Given the description of an element on the screen output the (x, y) to click on. 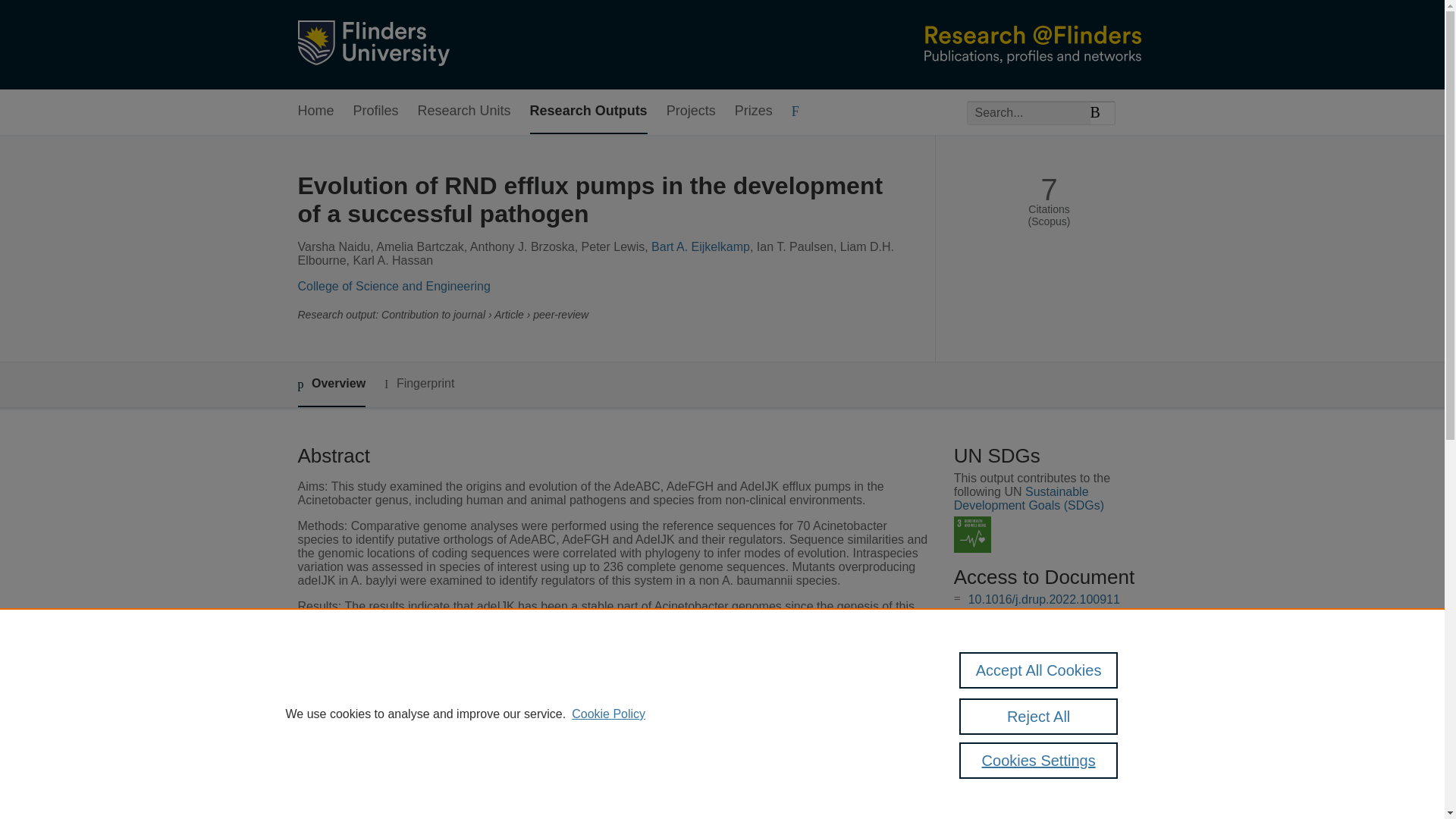
Overview (331, 384)
Profiles (375, 111)
Research Units (464, 111)
SDG 3 - Good Health and Well-being (972, 534)
In Copyright (1034, 614)
Bart A. Eijkelkamp (699, 246)
College of Science and Engineering (393, 286)
Projects (691, 111)
Link to publication in Scopus (1045, 672)
